Given the description of an element on the screen output the (x, y) to click on. 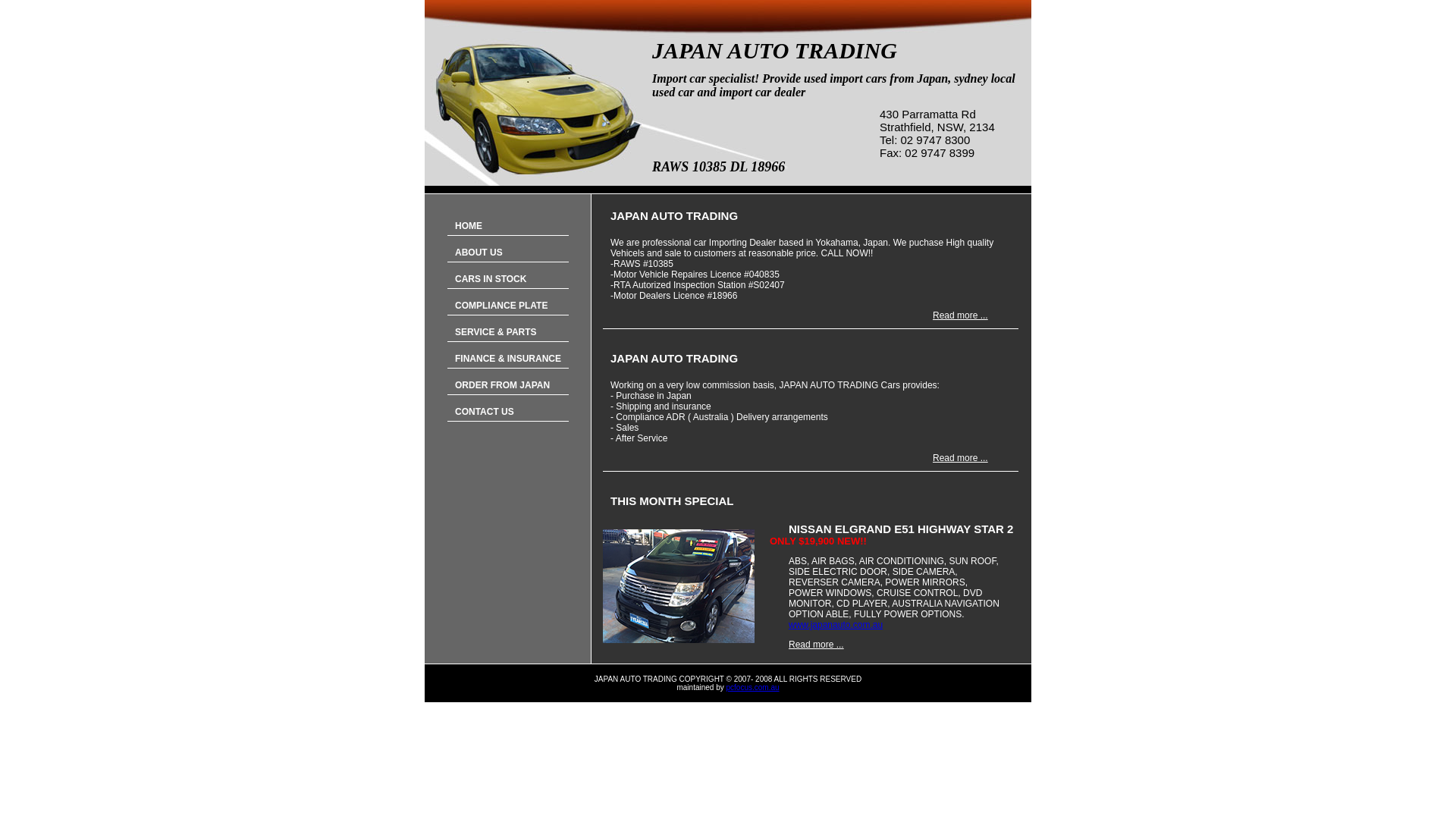
Read more ... Element type: text (960, 457)
www.japanauto.com.au Element type: text (835, 624)
ORDER FROM JAPAN Element type: text (507, 385)
CARS IN STOCK Element type: text (507, 278)
HOME Element type: text (507, 225)
ABOUT US Element type: text (507, 252)
COMPLIANCE PLATE Element type: text (507, 305)
pcfocus.com.au Element type: text (752, 687)
FINANCE & INSURANCE Element type: text (507, 358)
SERVICE & PARTS Element type: text (507, 332)
Read more ... Element type: text (816, 644)
Read more ... Element type: text (960, 315)
CONTACT US Element type: text (507, 411)
